Given the description of an element on the screen output the (x, y) to click on. 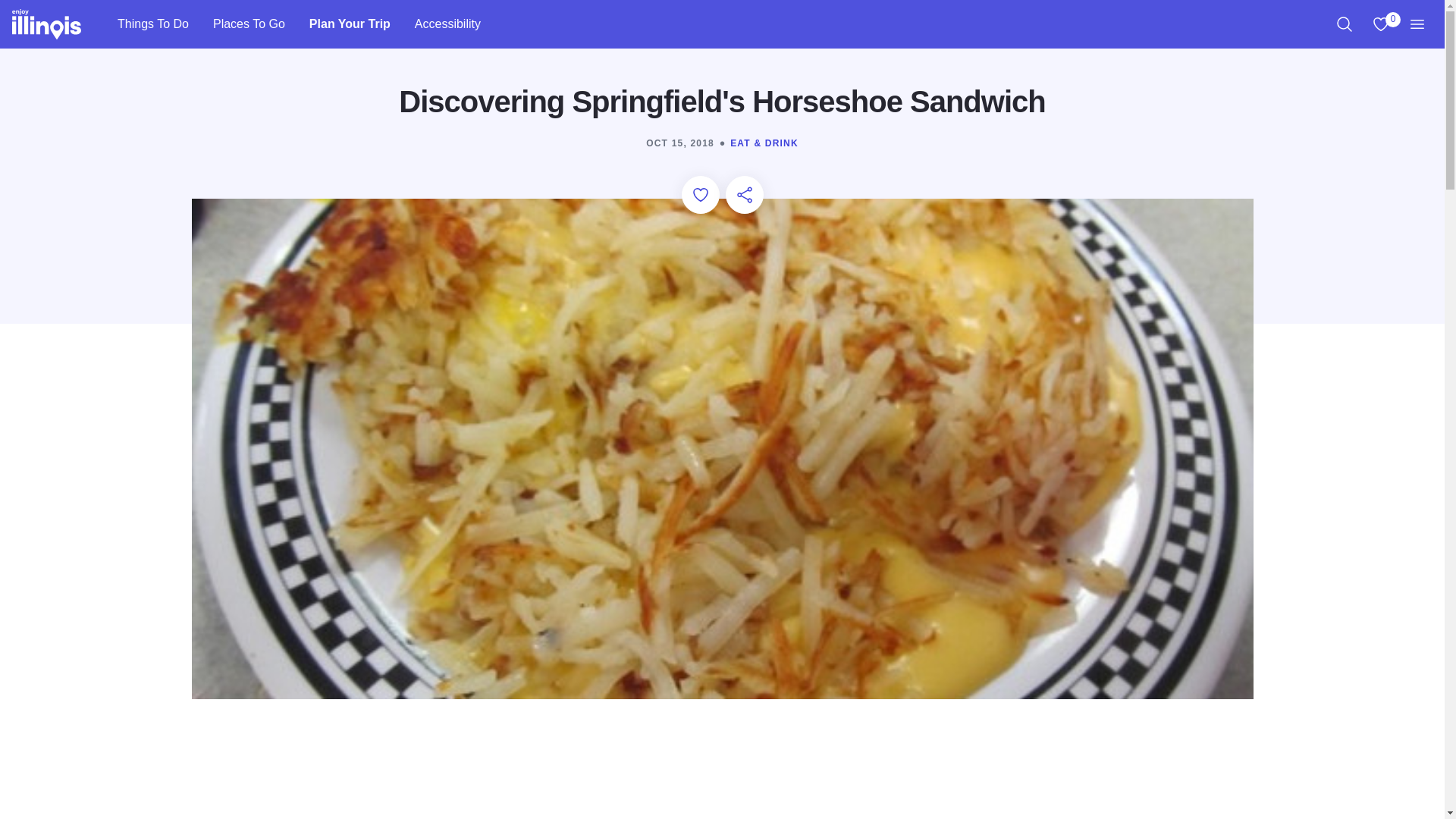
Accessibility (1380, 24)
Plan Your Trip (448, 24)
Search the Site (350, 24)
Things To Do (1344, 24)
Places To Go (152, 24)
